Given the description of an element on the screen output the (x, y) to click on. 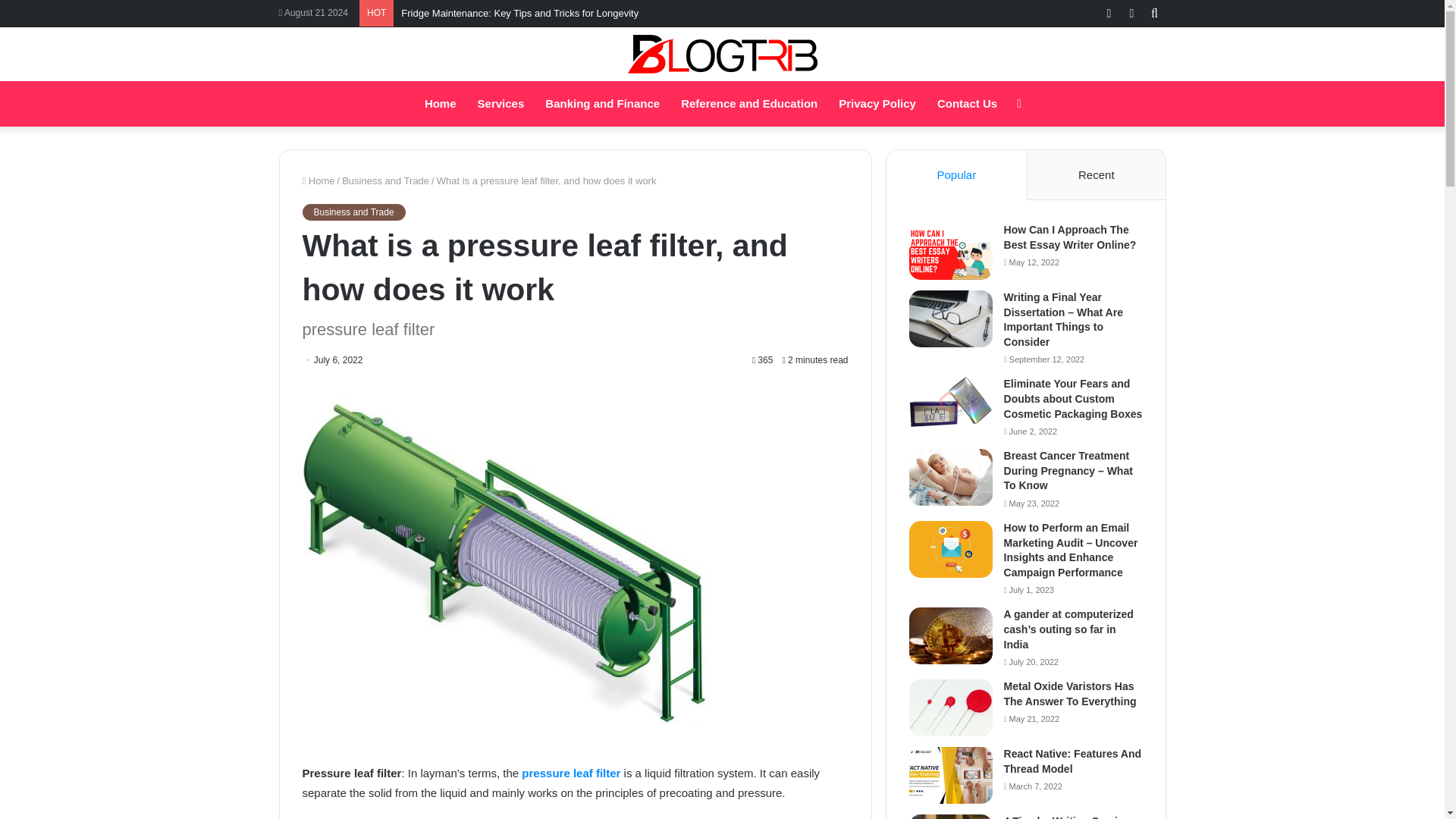
Fridge Maintenance: Key Tips and Tricks for Longevity (520, 12)
Blog Trib (721, 54)
Reference and Education (748, 103)
Privacy Policy (877, 103)
Business and Trade (352, 211)
Business and Trade (385, 180)
Banking and Finance (601, 103)
Contact Us (966, 103)
Home (317, 180)
Home (440, 103)
